Given the description of an element on the screen output the (x, y) to click on. 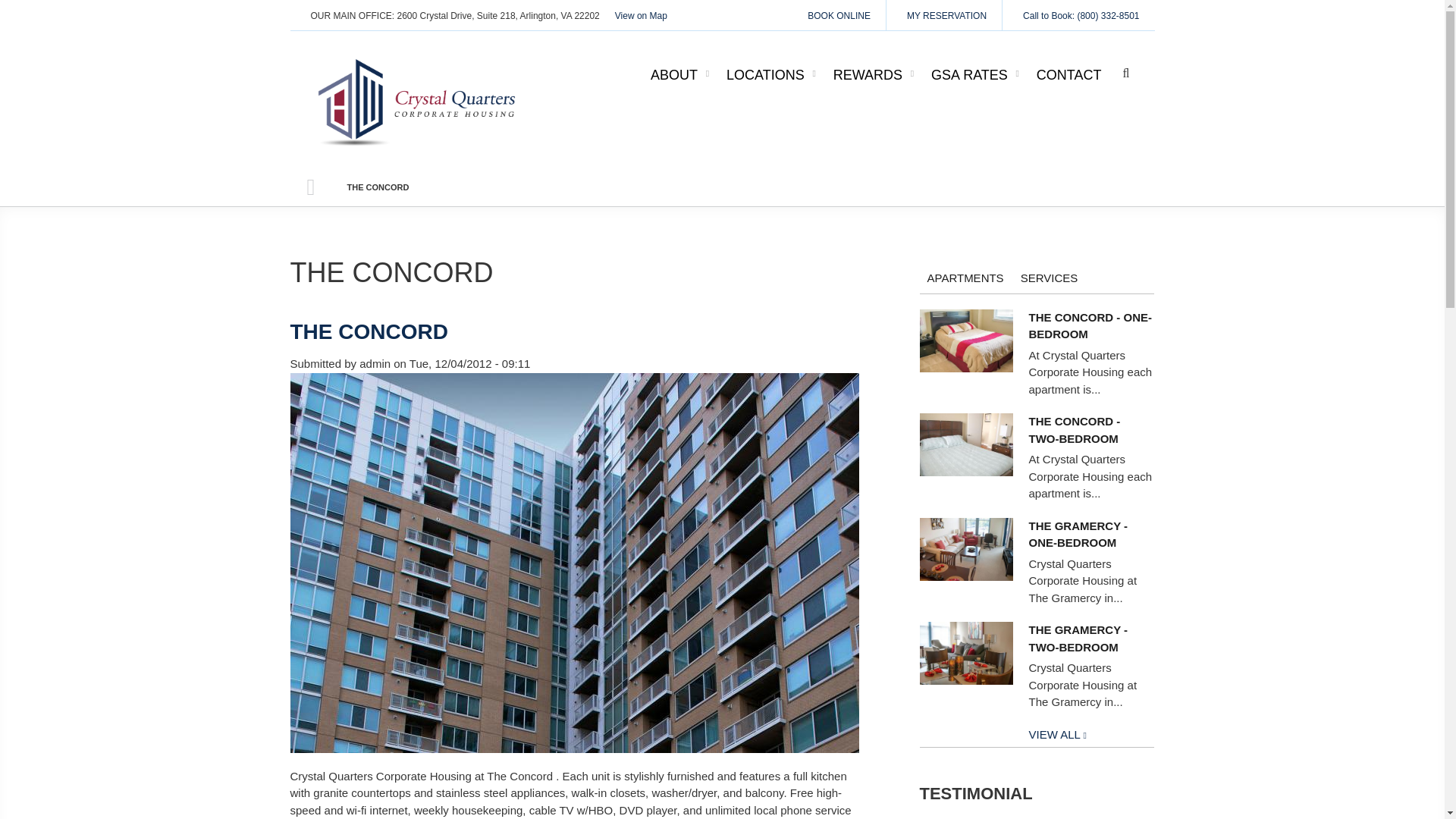
MY RESERVATION (943, 15)
REWARDS (873, 75)
ABOUT (680, 75)
CONTACT (1069, 75)
BOOK ONLINE (836, 15)
THE CONCORD (367, 331)
HOME (310, 187)
SERVICES (1049, 278)
Home (418, 98)
